Given the description of an element on the screen output the (x, y) to click on. 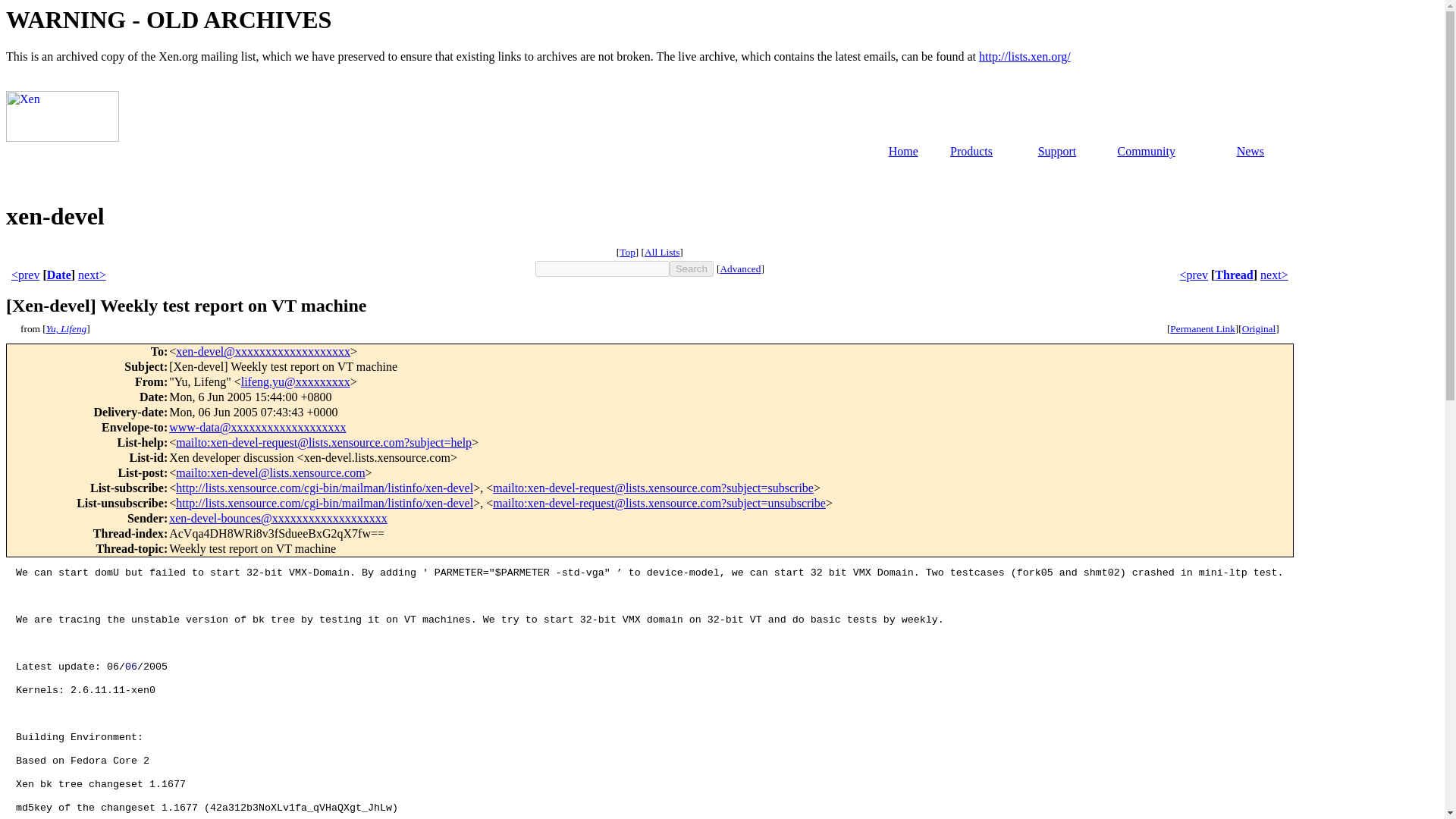
Search (691, 268)
All Lists (662, 251)
Search (691, 268)
News (1249, 151)
Products (971, 151)
Support (1057, 151)
Original (1258, 328)
Thread (1233, 274)
Home (903, 151)
Community (1145, 151)
